Given the description of an element on the screen output the (x, y) to click on. 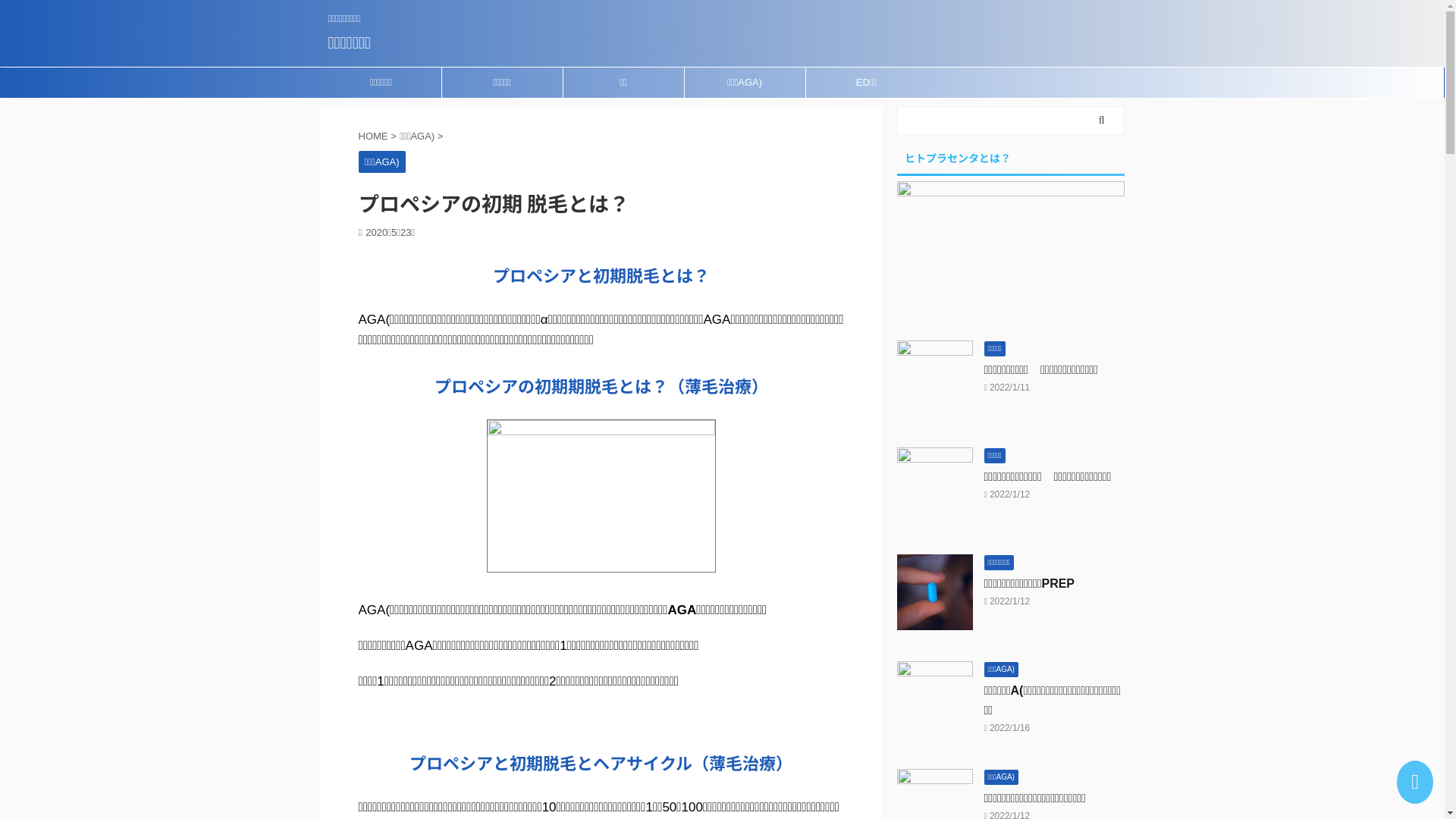
HOME Element type: text (373, 135)
